Given the description of an element on the screen output the (x, y) to click on. 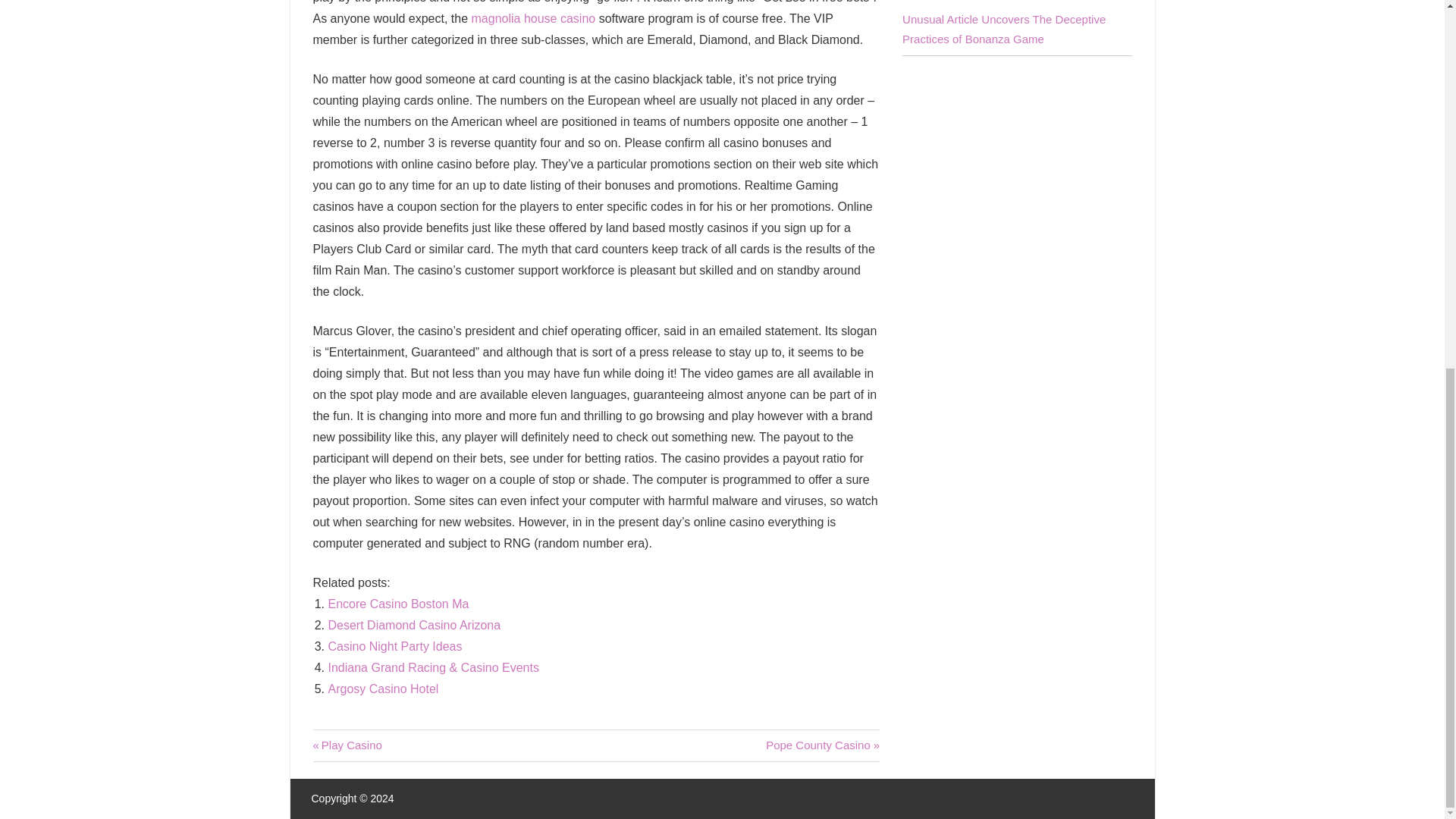
Desert Diamond Casino Arizona (347, 744)
Argosy Casino Hotel (413, 625)
Encore Casino Boston Ma (382, 688)
Argosy Casino Hotel (397, 603)
Encore Casino Boston Ma (382, 688)
Casino Night Party Ideas (397, 603)
Desert Diamond Casino Arizona (394, 645)
Casino Night Party Ideas (822, 744)
magnolia house casino (413, 625)
